Given the description of an element on the screen output the (x, y) to click on. 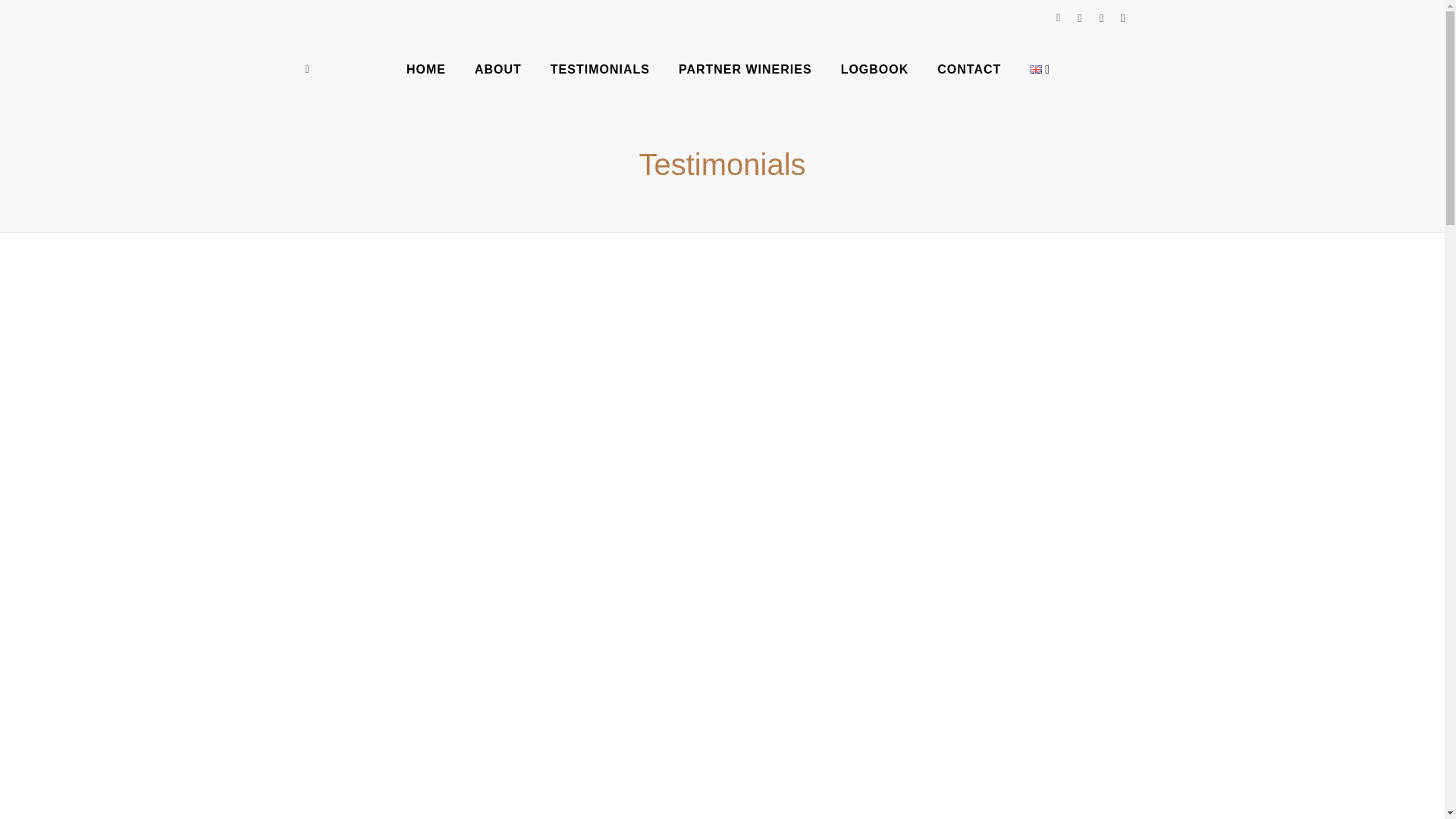
LOGBOOK (875, 69)
About (497, 69)
Home (425, 69)
ABOUT (497, 69)
PARTNER WINERIES (745, 69)
CONTACT (968, 69)
U (973, 408)
TESTIMONIALS (599, 69)
HOME (425, 69)
